Given the description of an element on the screen output the (x, y) to click on. 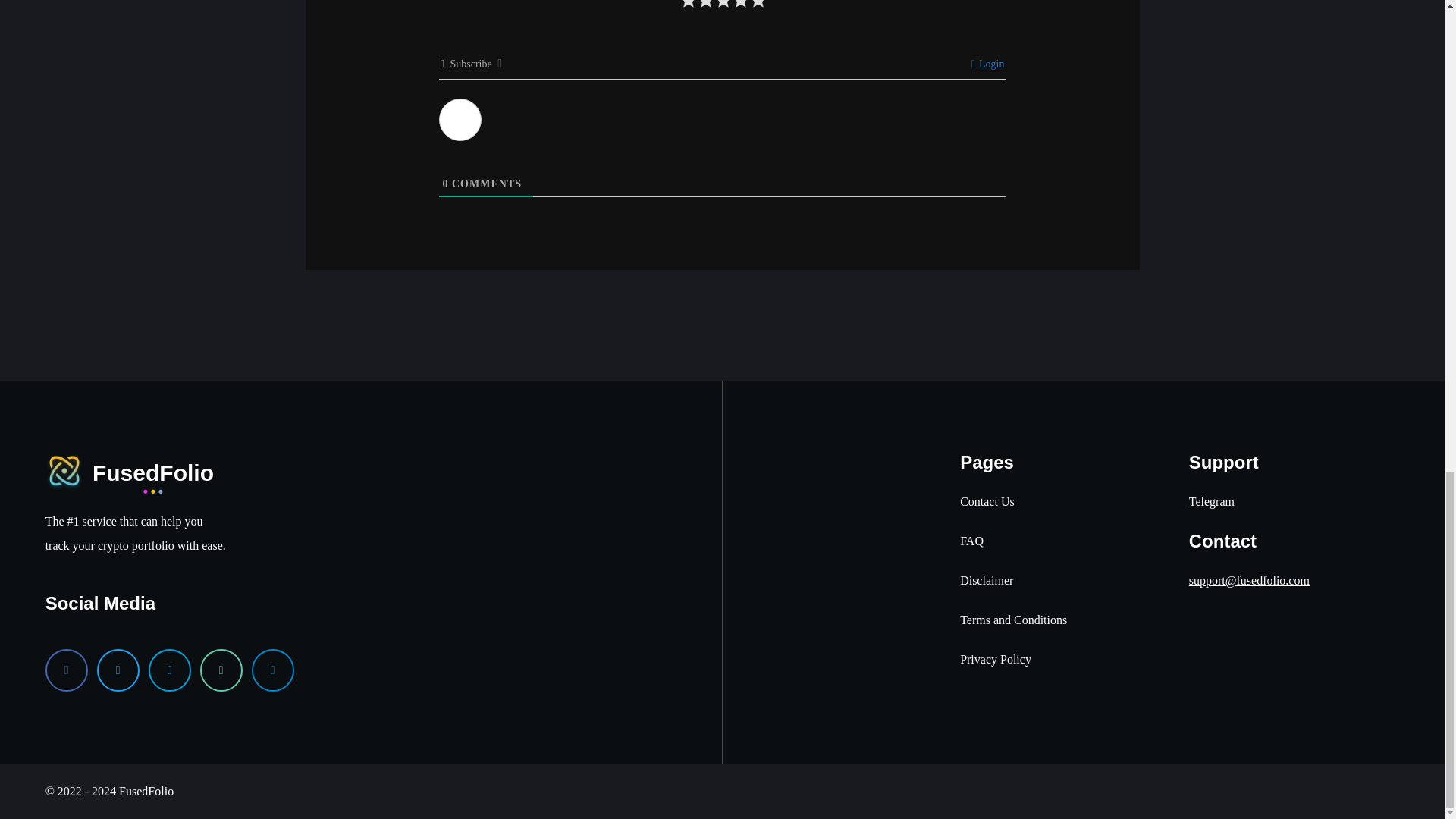
Login (987, 63)
FusedFolio (129, 470)
